Given the description of an element on the screen output the (x, y) to click on. 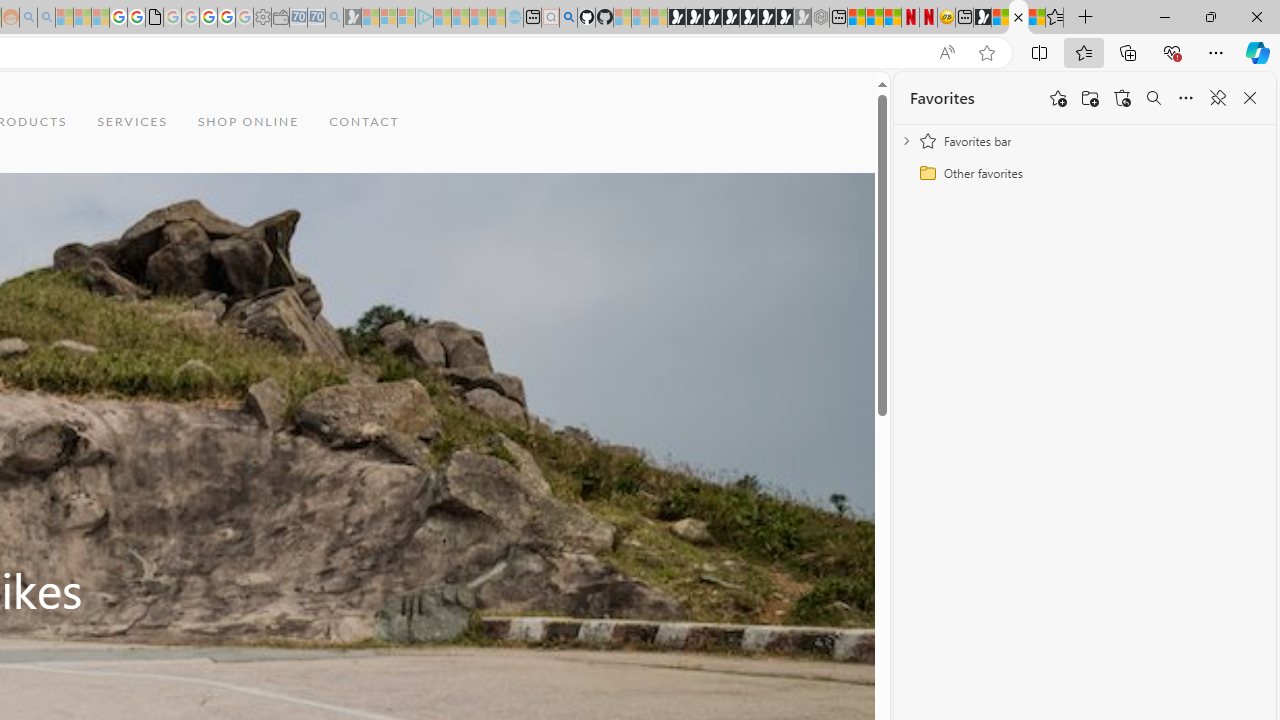
Restore deleted favorites (1122, 98)
CONTACT (363, 122)
Close favorites (1250, 98)
